Given the description of an element on the screen output the (x, y) to click on. 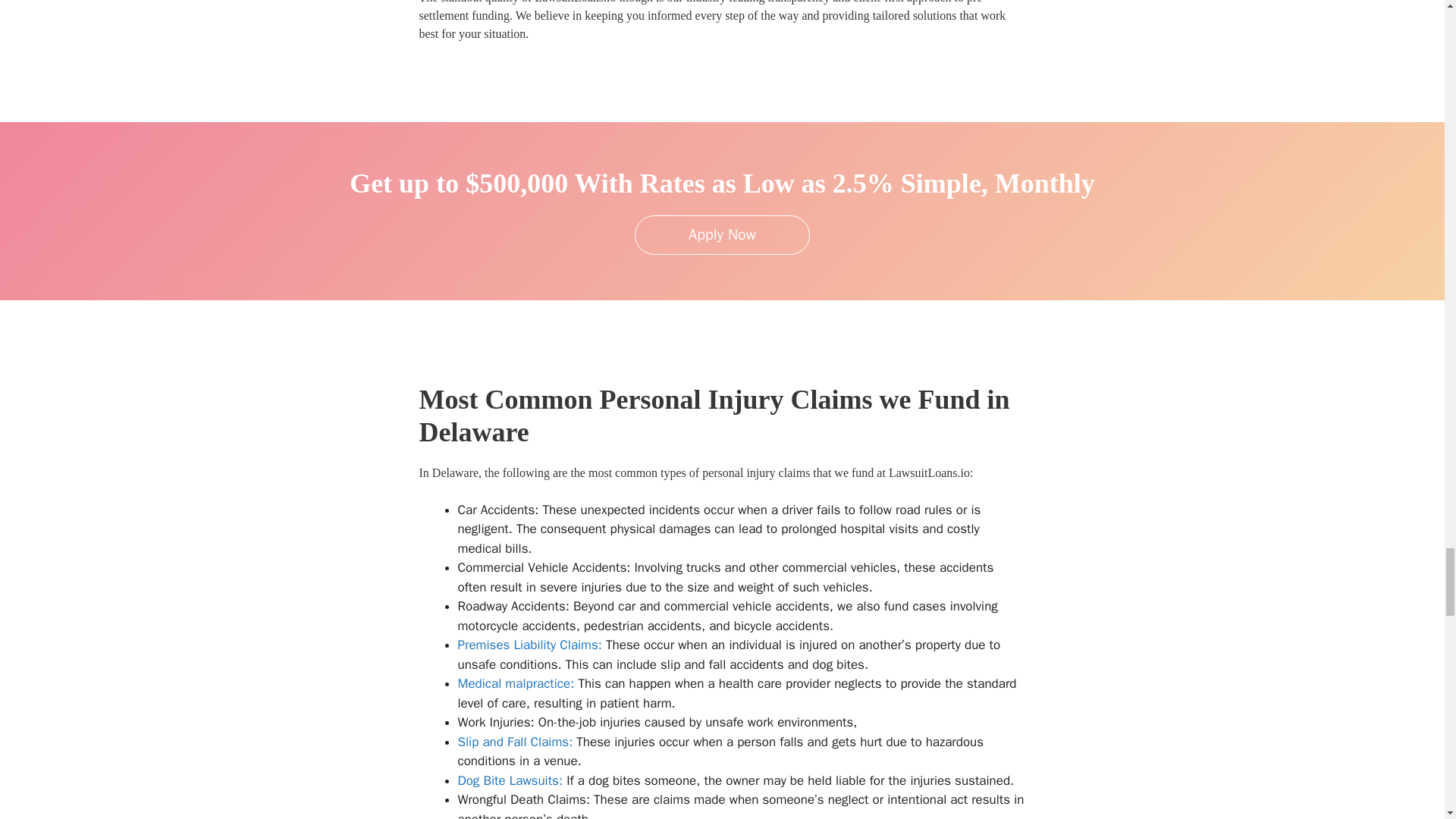
Dog Bite Lawsuits: (510, 780)
Premises Liability Claims: (530, 644)
Slip and Fall Claims: (515, 741)
Medical malpractice: (516, 683)
Apply Now (721, 234)
